Given the description of an element on the screen output the (x, y) to click on. 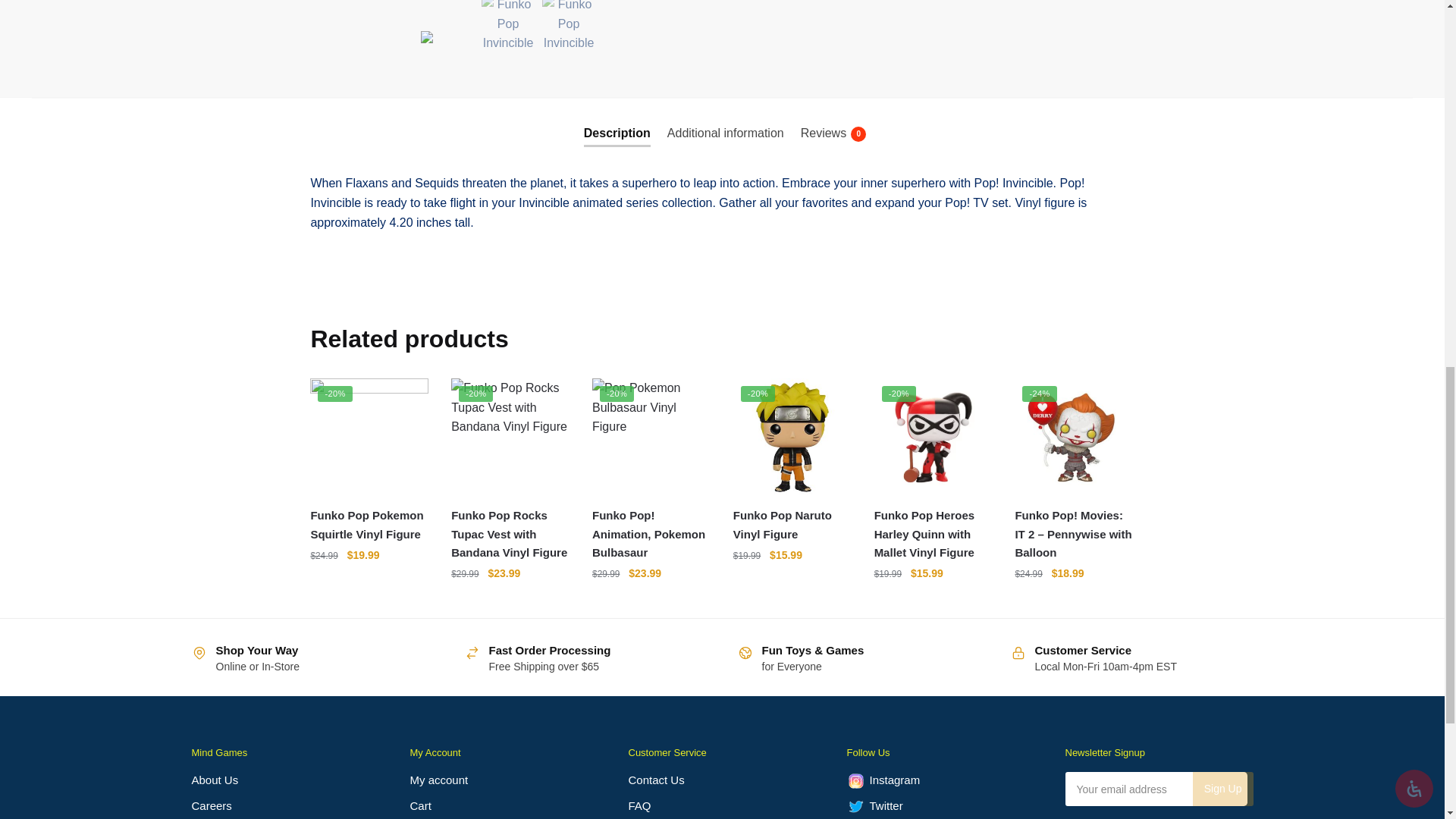
Funko Pop Rocks Tupac Vest with Bandana Vinyl Figure (510, 437)
Funko Pop Heroes Harley Quinn with Mallet Vinyl Figure (933, 437)
Funko Pop Pokemon Squirtle Vinyl Figure (369, 437)
Funko Pop! Animation, Pokemon Bulbasaur (651, 437)
Sign up (1222, 788)
Funko Pop Naruto Vinyl Figure (792, 437)
